Given the description of an element on the screen output the (x, y) to click on. 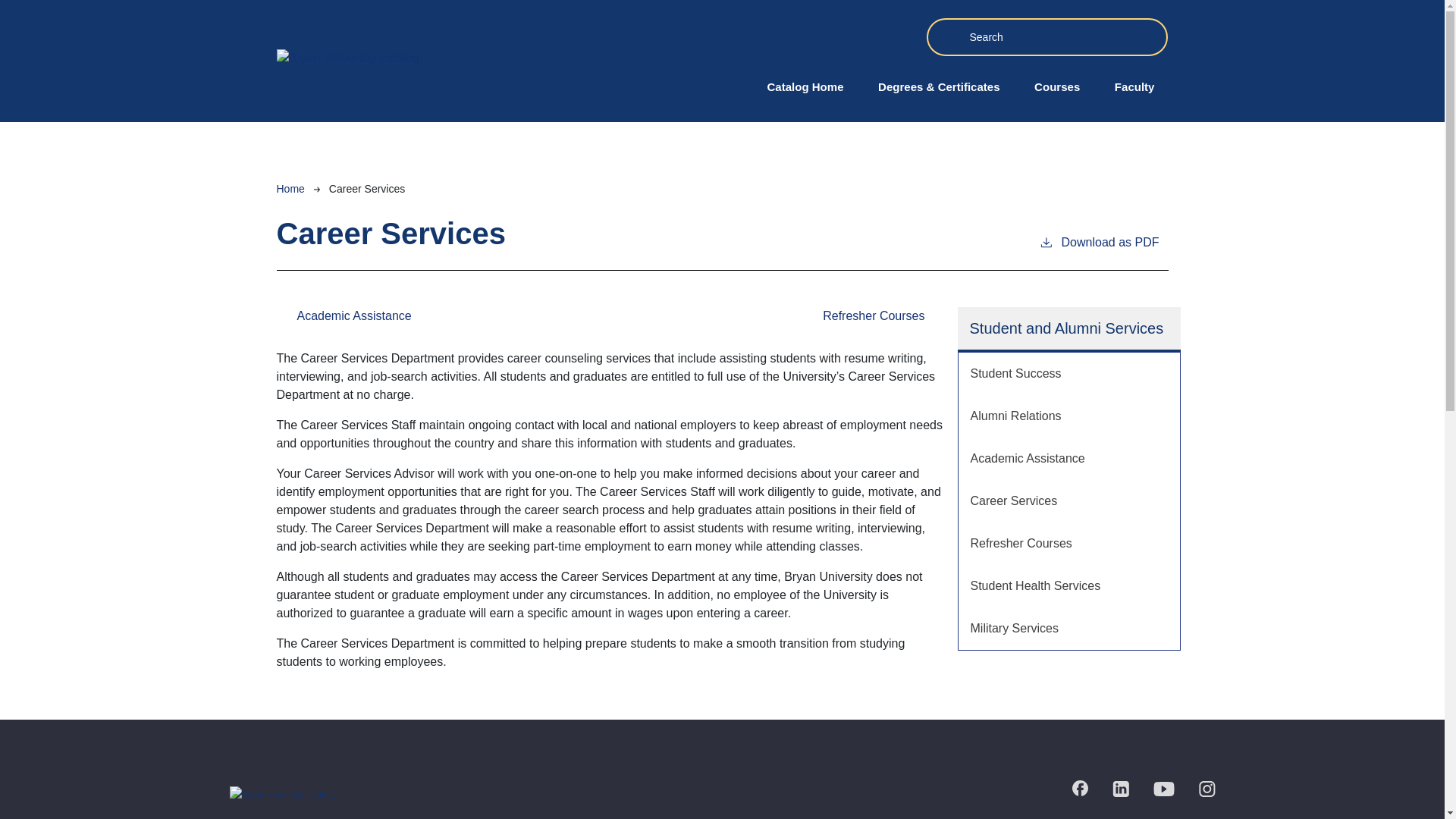
Alumni Relations (1068, 415)
Refresher Courses (1068, 543)
Student Health Services (1068, 586)
Career Services (1068, 500)
Academic Assistance (1068, 458)
Catalog Home (804, 87)
Student Success (1068, 373)
Academic Assistance (343, 316)
Courses (1056, 87)
Military Services (1068, 628)
